Given the description of an element on the screen output the (x, y) to click on. 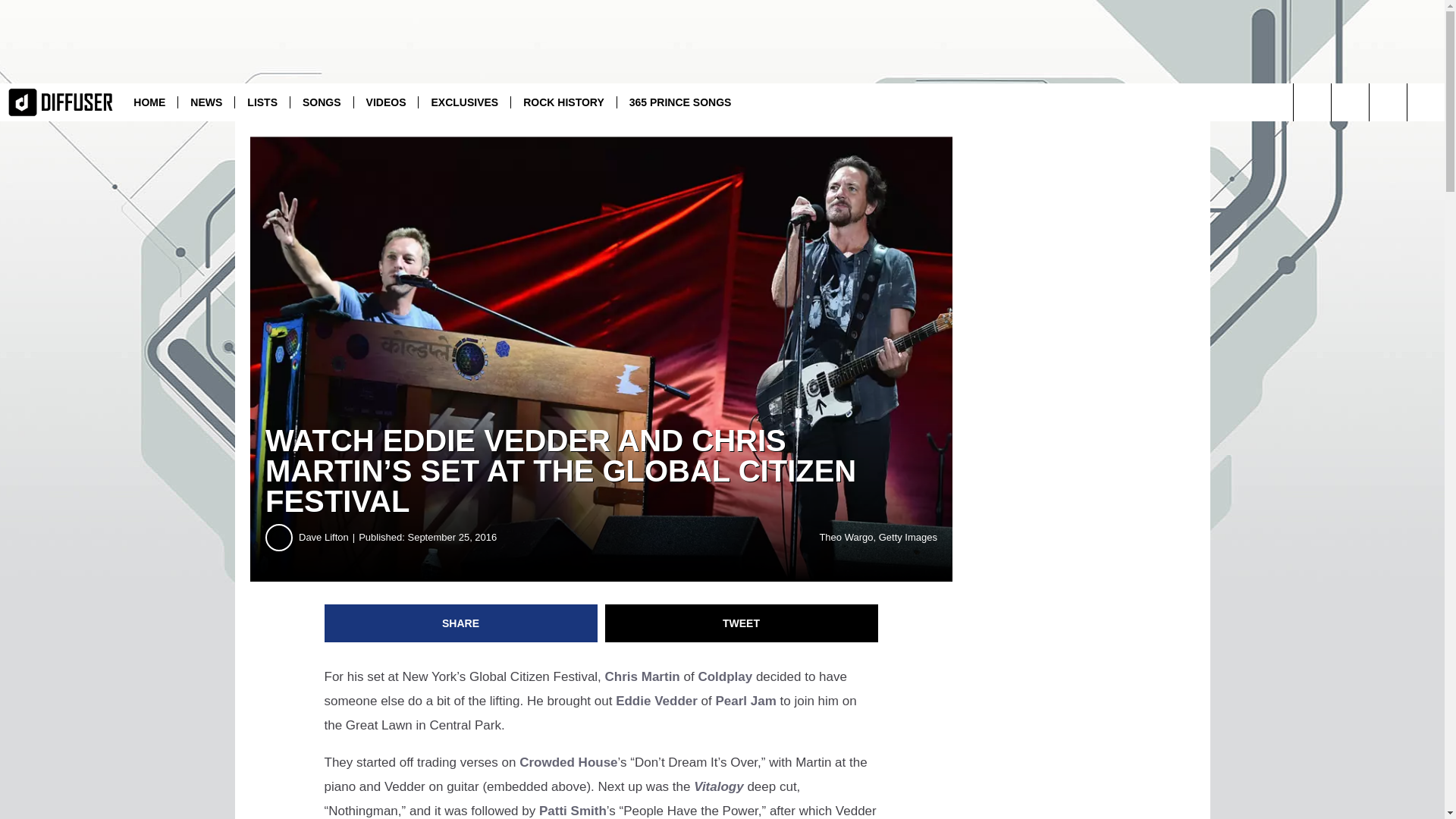
TWEET (741, 623)
HOME (148, 102)
Dave Lifton (328, 537)
Patti Smith (572, 810)
TWEET (741, 623)
LISTS (261, 102)
Visit us on Facebook (1388, 102)
SONGS (321, 102)
Vitalogy (719, 786)
EXCLUSIVES (464, 102)
